Given the description of an element on the screen output the (x, y) to click on. 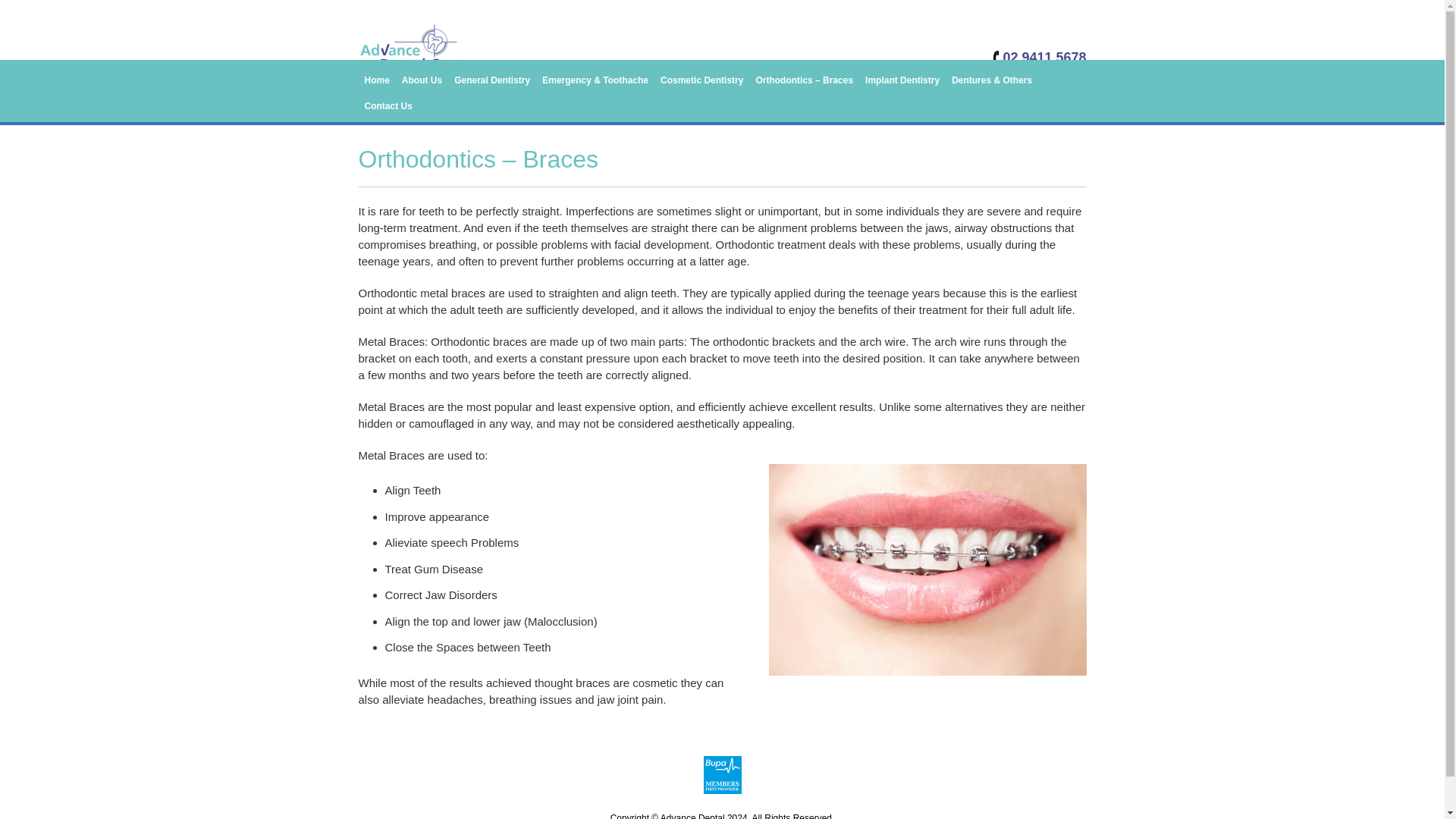
Cosmetic Dentistry (701, 80)
Home (376, 80)
Advance Dental Chatswood (410, 74)
General Dentistry (491, 80)
About Us (422, 80)
Contact Us (387, 105)
Implant Dentistry (901, 80)
